Given the description of an element on the screen output the (x, y) to click on. 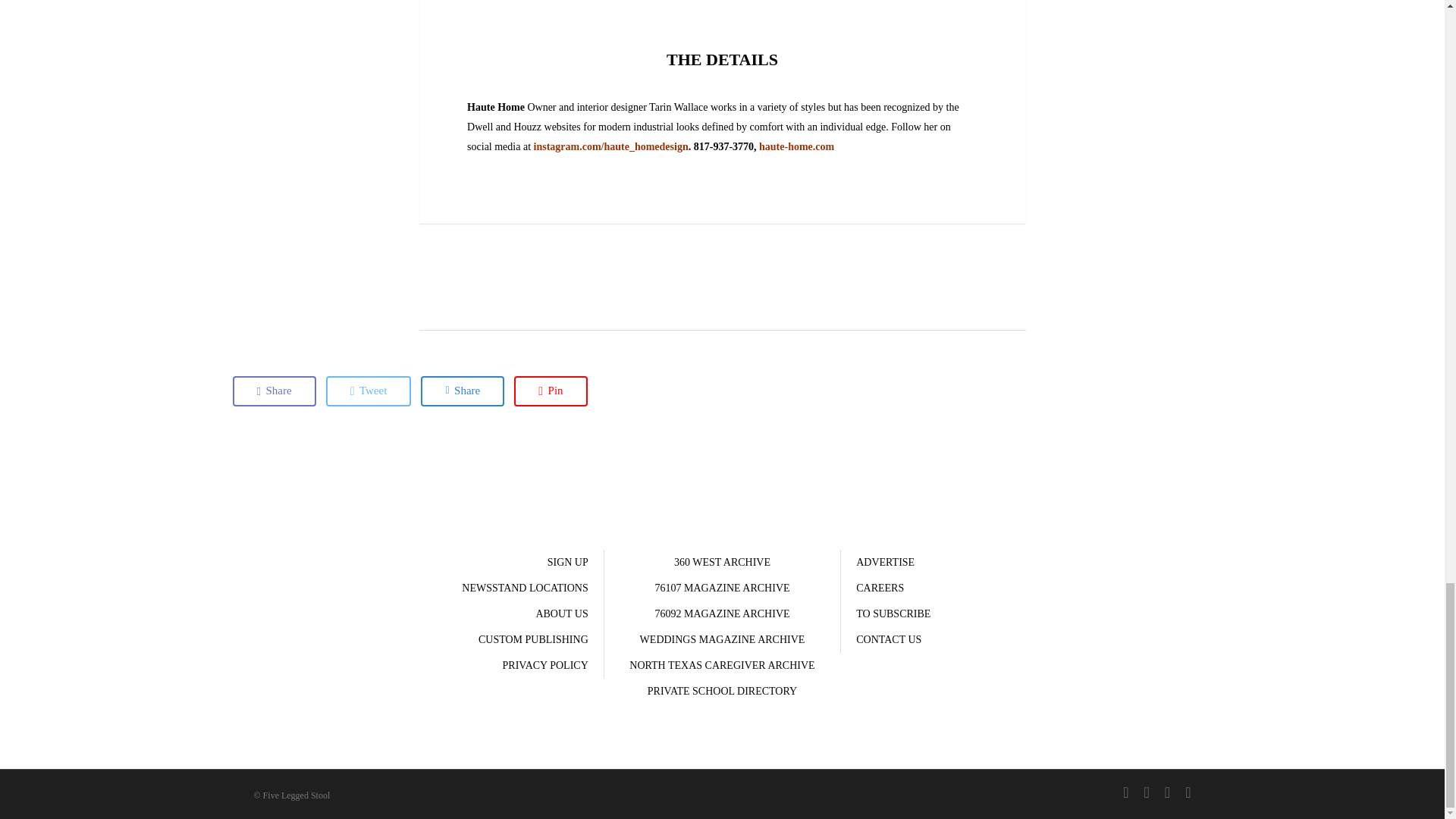
Pin this (549, 390)
Share this (461, 390)
Share this (273, 390)
Tweet this (369, 390)
